Given the description of an element on the screen output the (x, y) to click on. 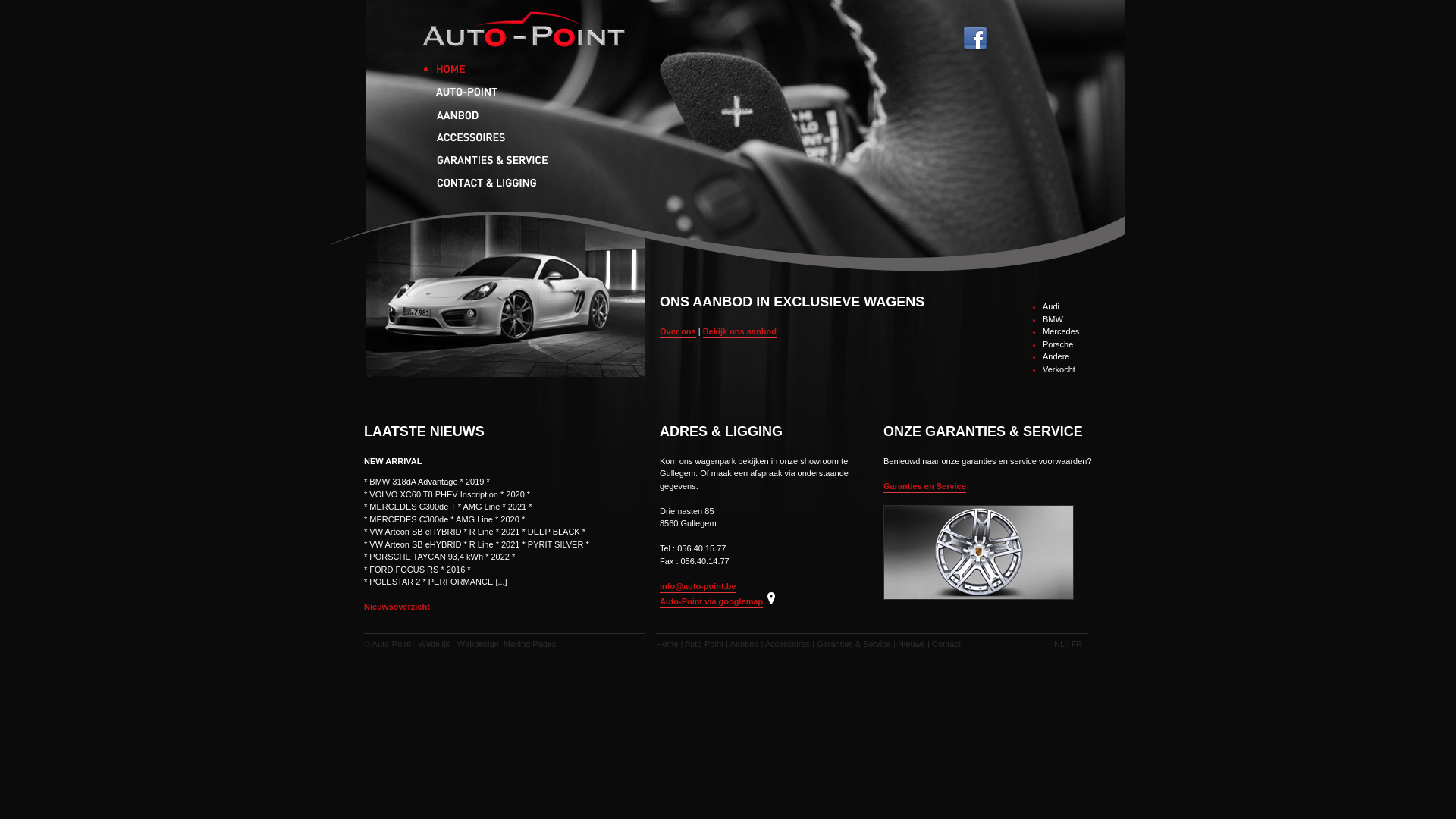
Wettelijk Element type: text (433, 643)
Over ons Element type: text (677, 331)
Andere Element type: text (1055, 355)
Auto-Point Element type: text (703, 643)
Audi Element type: text (1050, 305)
Auto-Point via googlemap Element type: text (710, 602)
Nieuws Element type: text (911, 643)
Accessoires Element type: text (787, 643)
Home Element type: text (666, 643)
Webdesign: Making Pages Element type: text (506, 643)
Garanties & Service Element type: text (496, 158)
Home Element type: text (496, 67)
Garanties & Service Element type: text (853, 643)
Nieuwsoverzicht Element type: text (396, 607)
Accessoires Element type: text (496, 136)
Porsche Element type: text (1057, 343)
Verkocht Element type: text (1058, 368)
BMW Element type: text (1052, 318)
FR Element type: text (1076, 643)
Mercedes Element type: text (1060, 330)
Auto-Point Element type: text (496, 90)
Garanties en Service Element type: text (924, 486)
Contact Element type: text (945, 643)
Contact & Ligging Element type: text (496, 181)
Bekijk ons aanbod Element type: text (739, 331)
Aanbod Element type: text (496, 113)
info@auto-point.be Element type: text (697, 586)
NL Element type: text (1059, 643)
Aanbod Element type: text (743, 643)
